Given the description of an element on the screen output the (x, y) to click on. 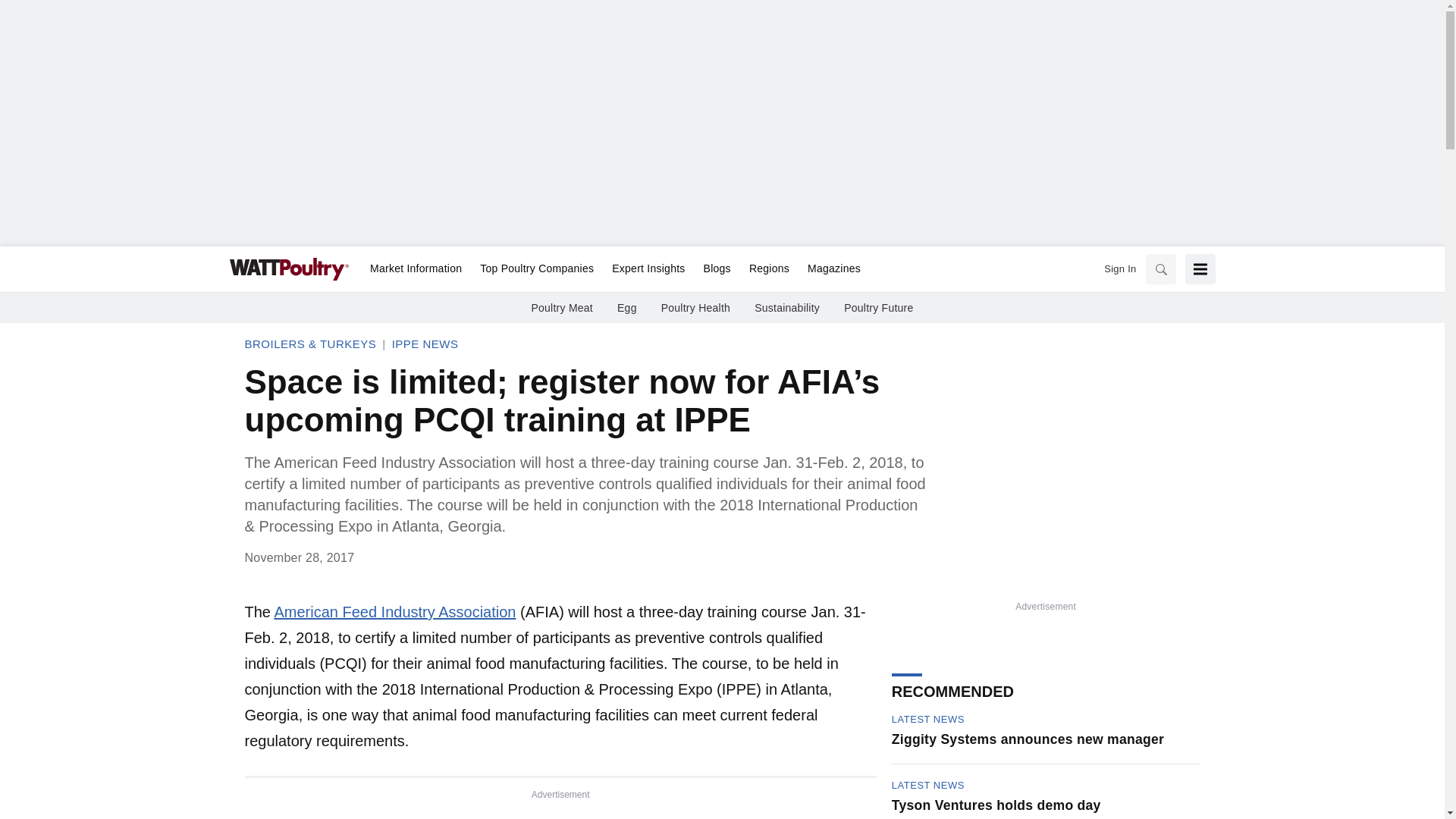
Magazines (828, 269)
Latest News (927, 785)
Egg (627, 307)
Top Poultry Companies (536, 269)
Market Information (415, 269)
Latest News (927, 719)
Poultry Meat (561, 307)
Poultry Health (695, 307)
Poultry Future (878, 307)
Sustainability (786, 307)
Expert Insights (648, 269)
Regions (768, 269)
Sign In (1119, 268)
IPPE News (424, 343)
Blogs (716, 269)
